Given the description of an element on the screen output the (x, y) to click on. 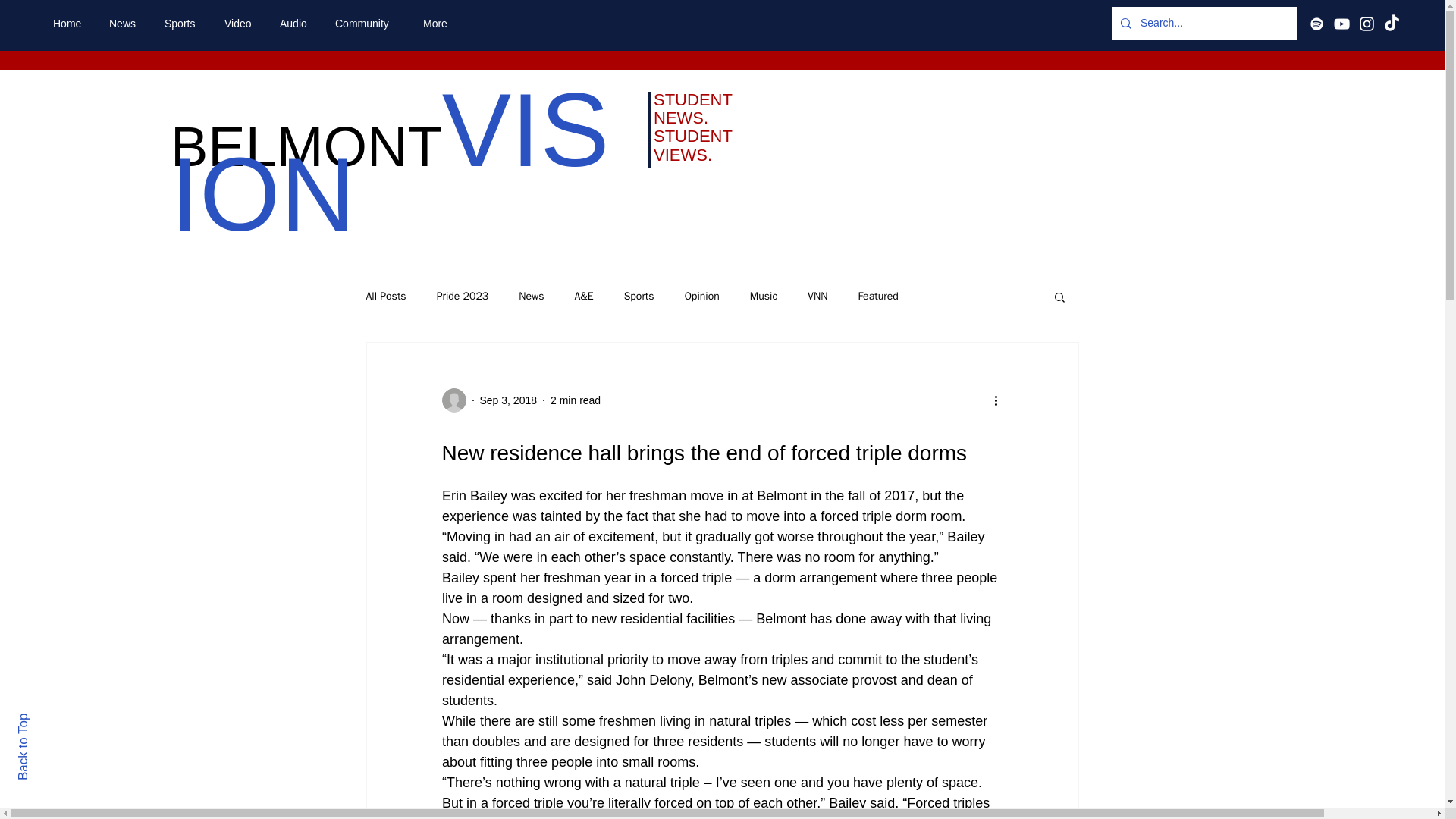
Embedded Content (722, 64)
News (530, 296)
VISION (390, 162)
Sports (638, 296)
Community (367, 23)
Sep 3, 2018 (508, 399)
Sports (182, 23)
Audio (295, 23)
VNN (817, 296)
Featured (877, 296)
